Given the description of an element on the screen output the (x, y) to click on. 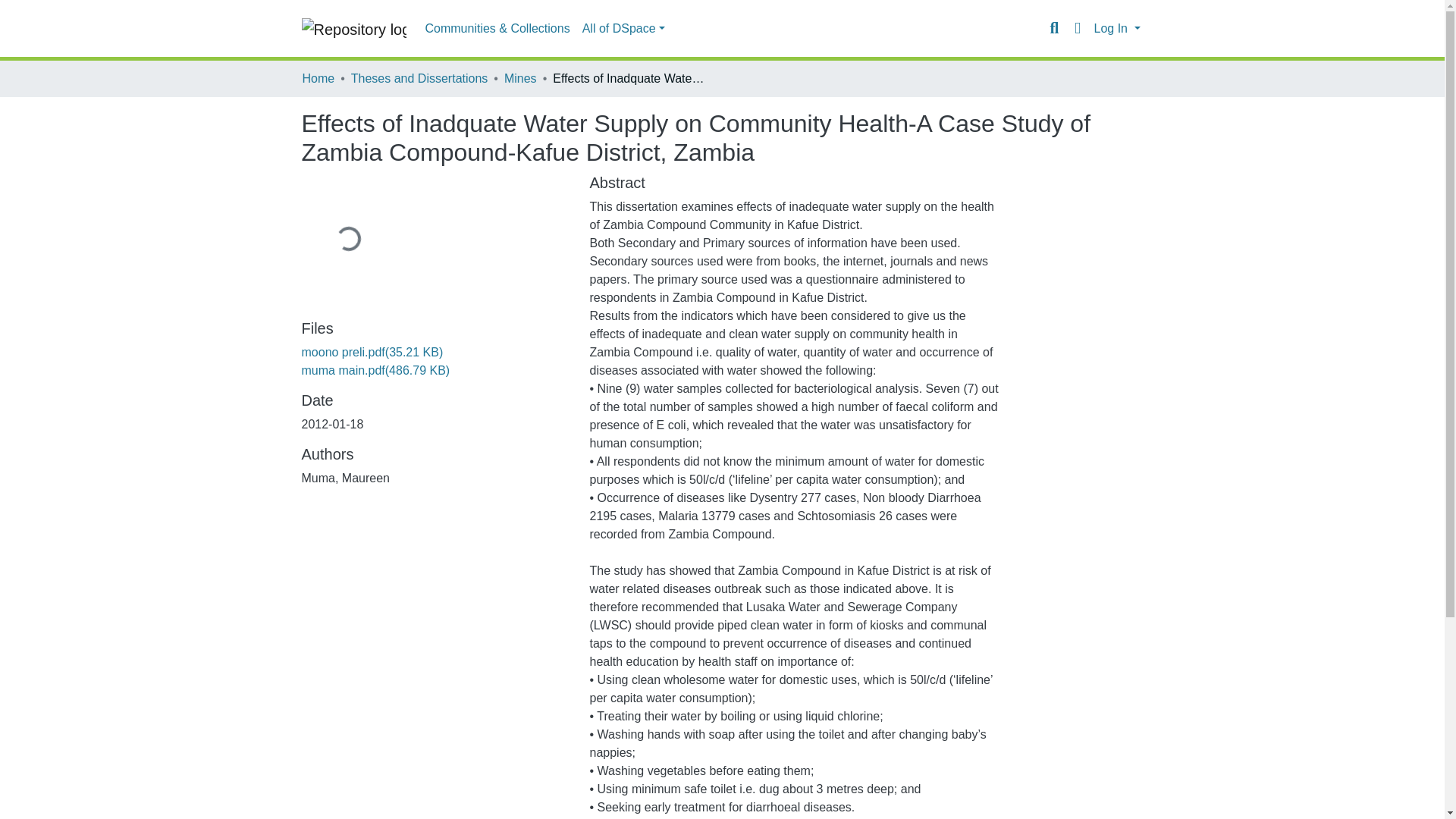
Language switch (1077, 28)
All of DSpace (623, 28)
Mines (520, 78)
Search (1053, 28)
Log In (1116, 28)
Theses and Dissertations (418, 78)
Home (317, 78)
